Given the description of an element on the screen output the (x, y) to click on. 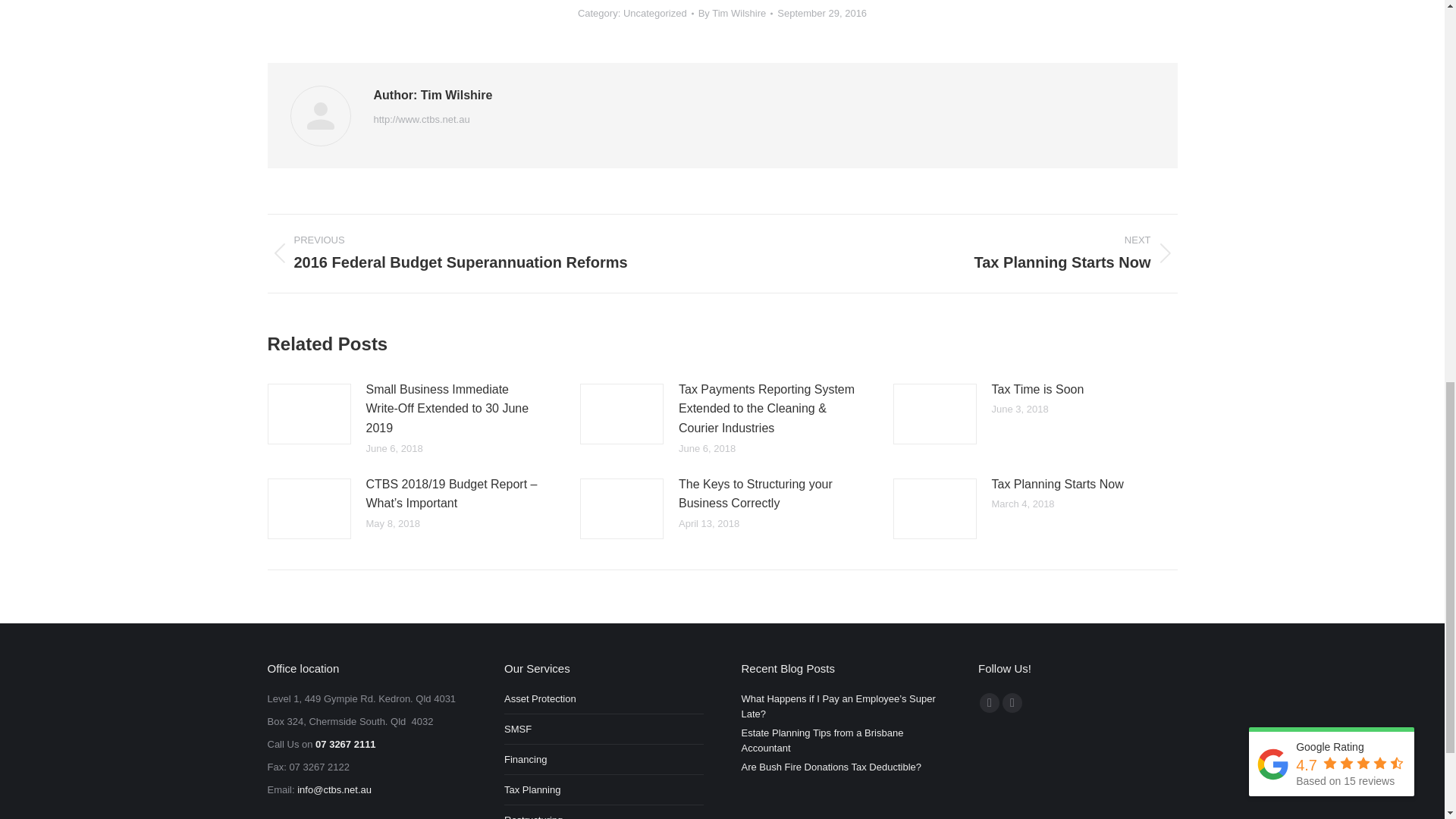
Linkedin page opens in new window (1012, 702)
View all posts by Tim Wilshire (735, 13)
Facebook page opens in new window (988, 702)
6:38 am (821, 13)
